Given the description of an element on the screen output the (x, y) to click on. 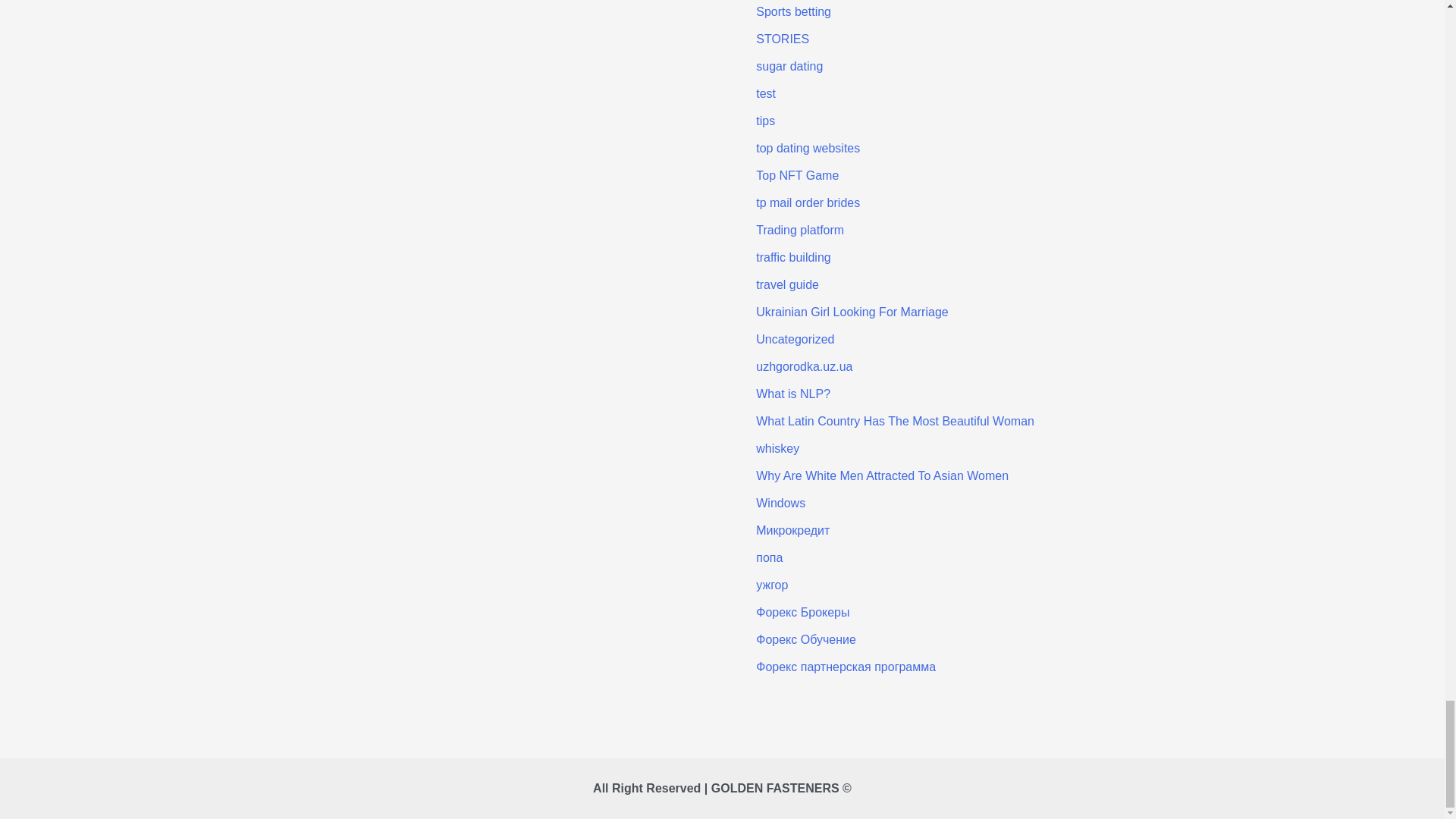
traffic building (792, 256)
